Given the description of an element on the screen output the (x, y) to click on. 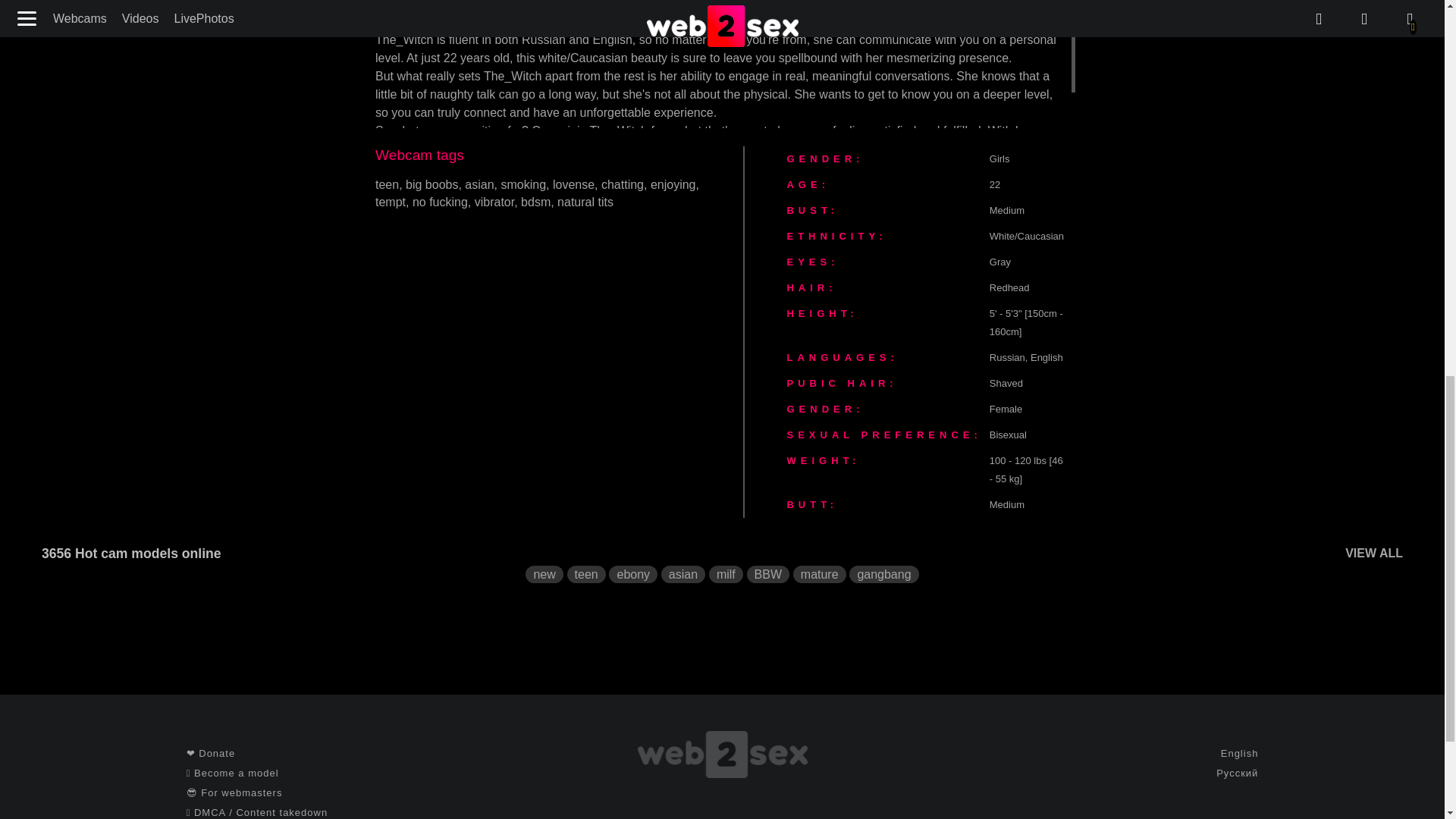
asian (478, 184)
smoking (523, 184)
chatting (622, 184)
lovense (573, 184)
big boobs (432, 184)
teen (386, 184)
tempt (390, 201)
enjoying (672, 184)
